Given the description of an element on the screen output the (x, y) to click on. 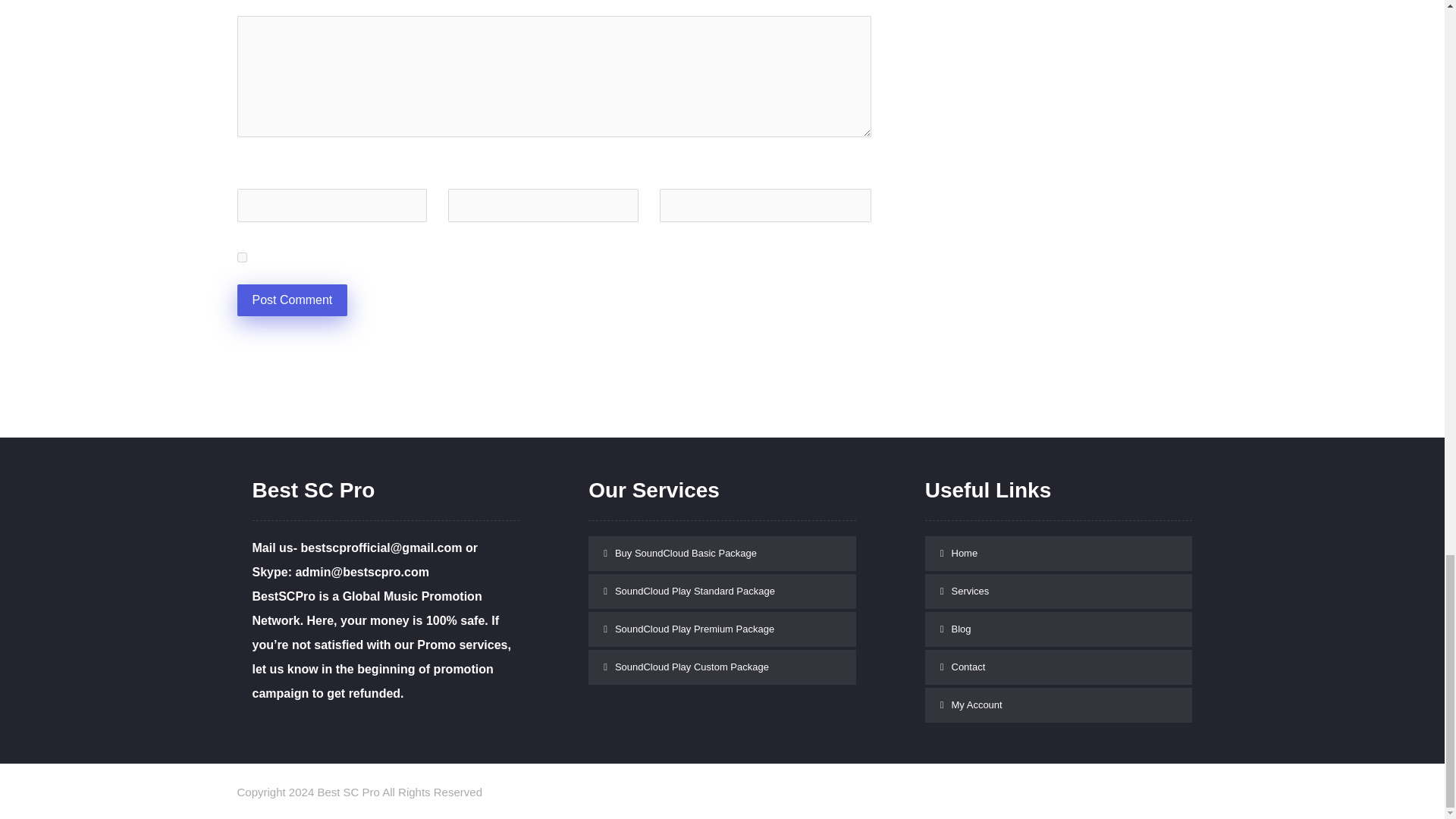
Contact (1058, 667)
yes (240, 257)
Post Comment (291, 300)
SoundCloud Play Custom Package (722, 667)
Services (1058, 591)
Post Comment (291, 300)
Home (1058, 553)
SoundCloud Play Premium Package (722, 629)
Buy SoundCloud Basic Package (722, 553)
SoundCloud Play Standard Package (722, 591)
